Given the description of an element on the screen output the (x, y) to click on. 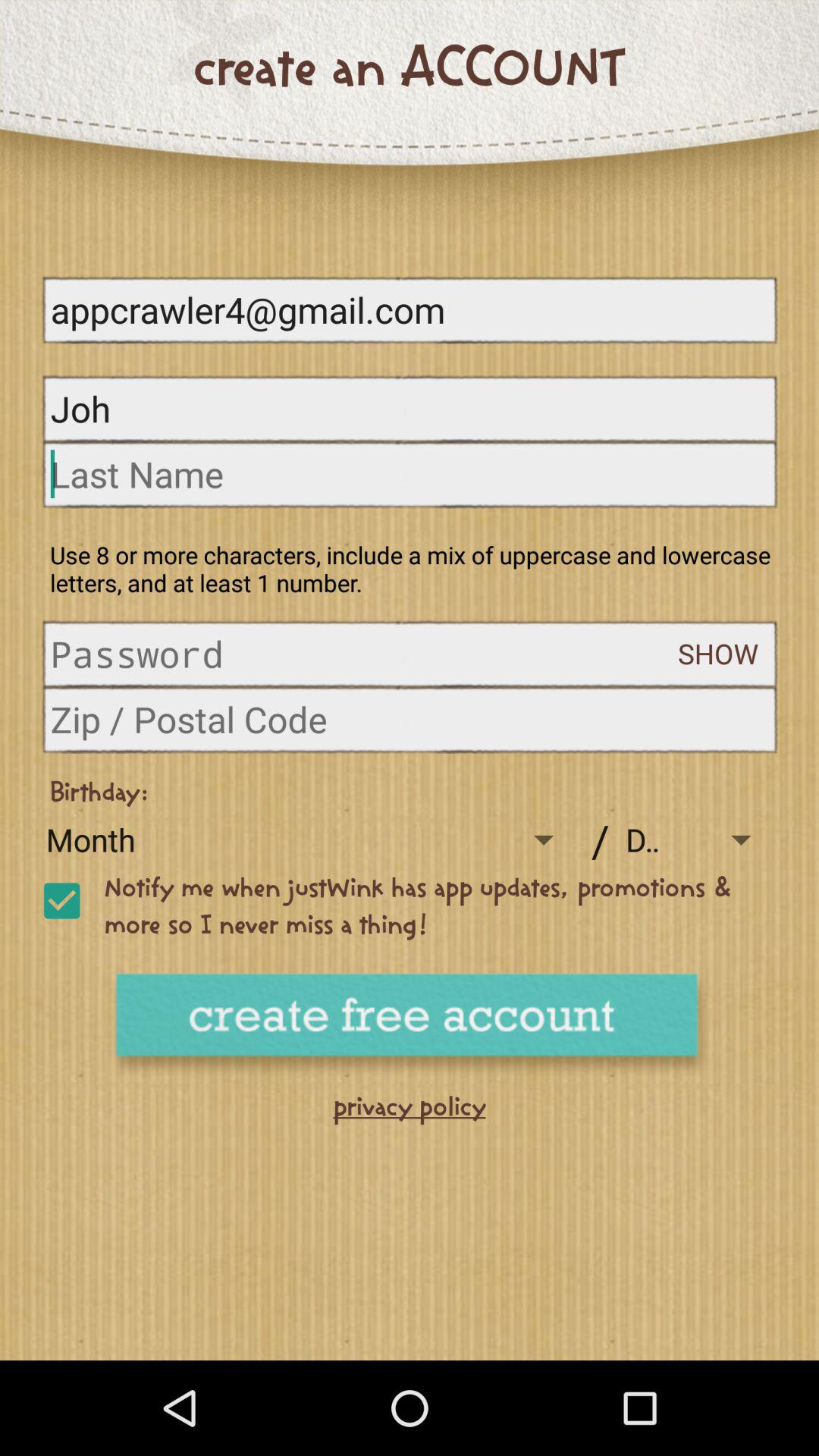
last name (409, 473)
